Given the description of an element on the screen output the (x, y) to click on. 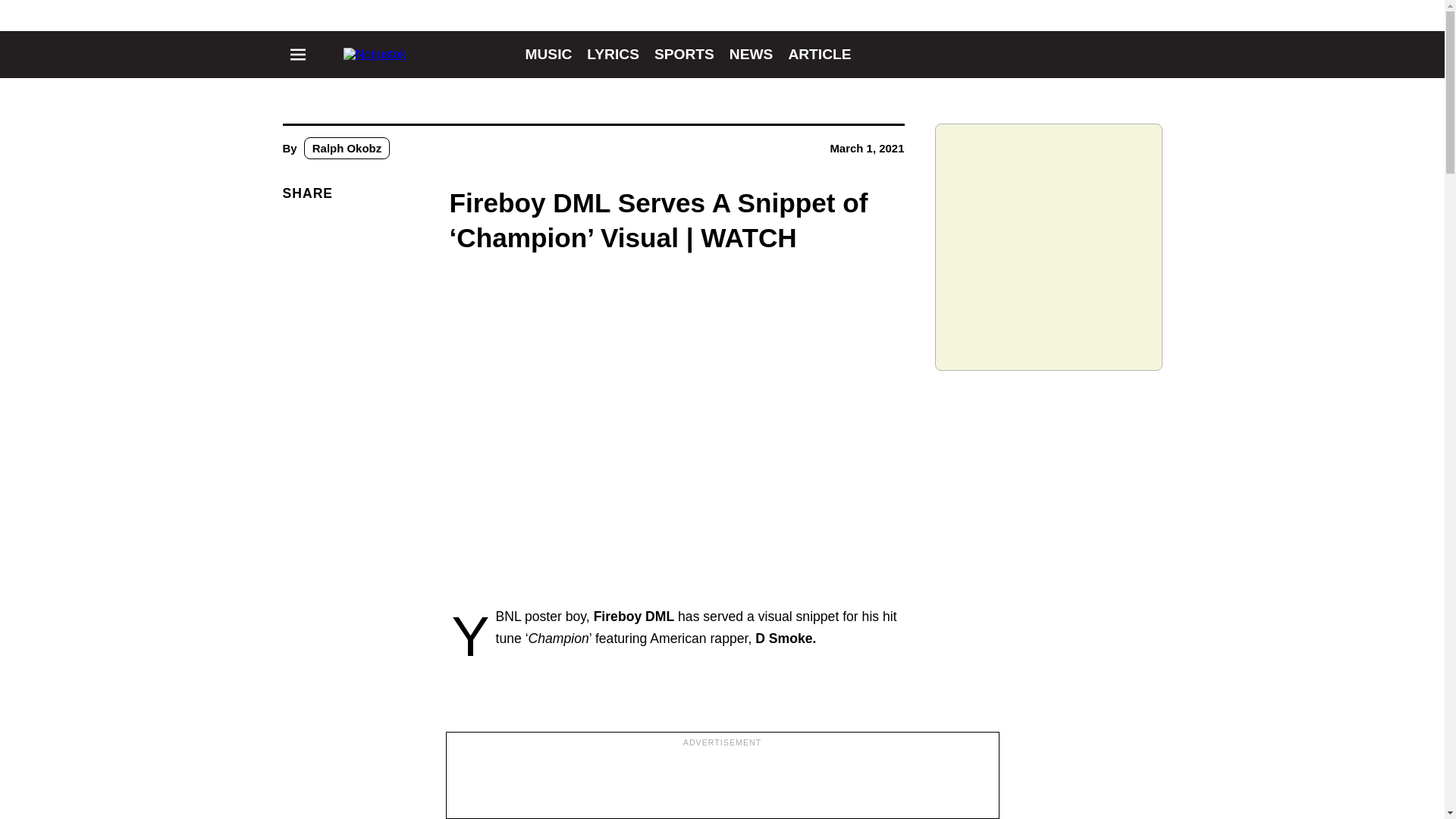
NEWS (751, 53)
SPORTS (683, 53)
Posts by Ralph Okobz (347, 147)
ARTICLE (818, 53)
Ralph Okobz (347, 147)
LYRICS (612, 53)
MUSIC (548, 53)
